Given the description of an element on the screen output the (x, y) to click on. 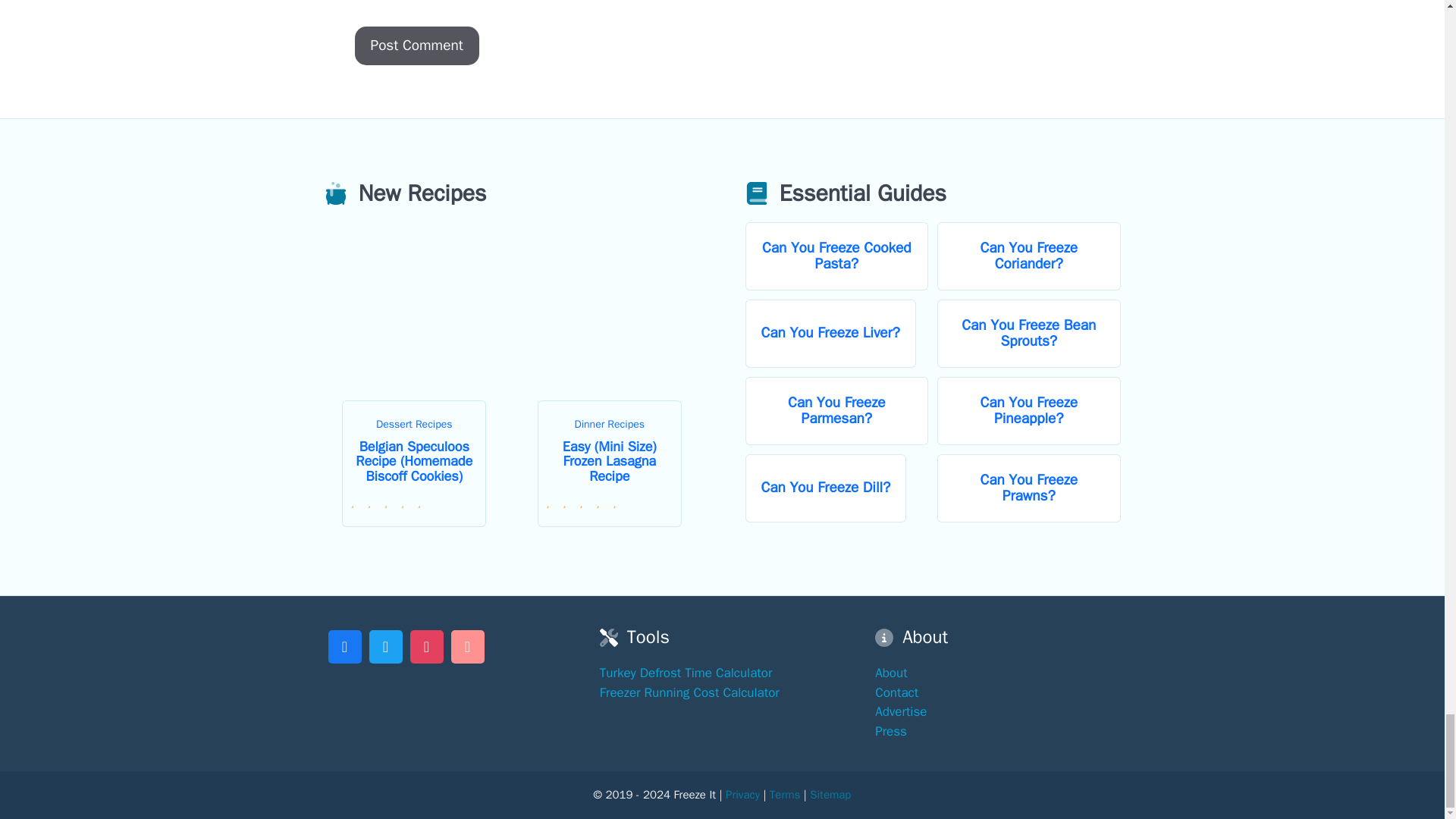
Post Comment (417, 45)
Facebook (344, 644)
Youtube (466, 644)
Twitter (385, 644)
Instagram (426, 644)
